Given the description of an element on the screen output the (x, y) to click on. 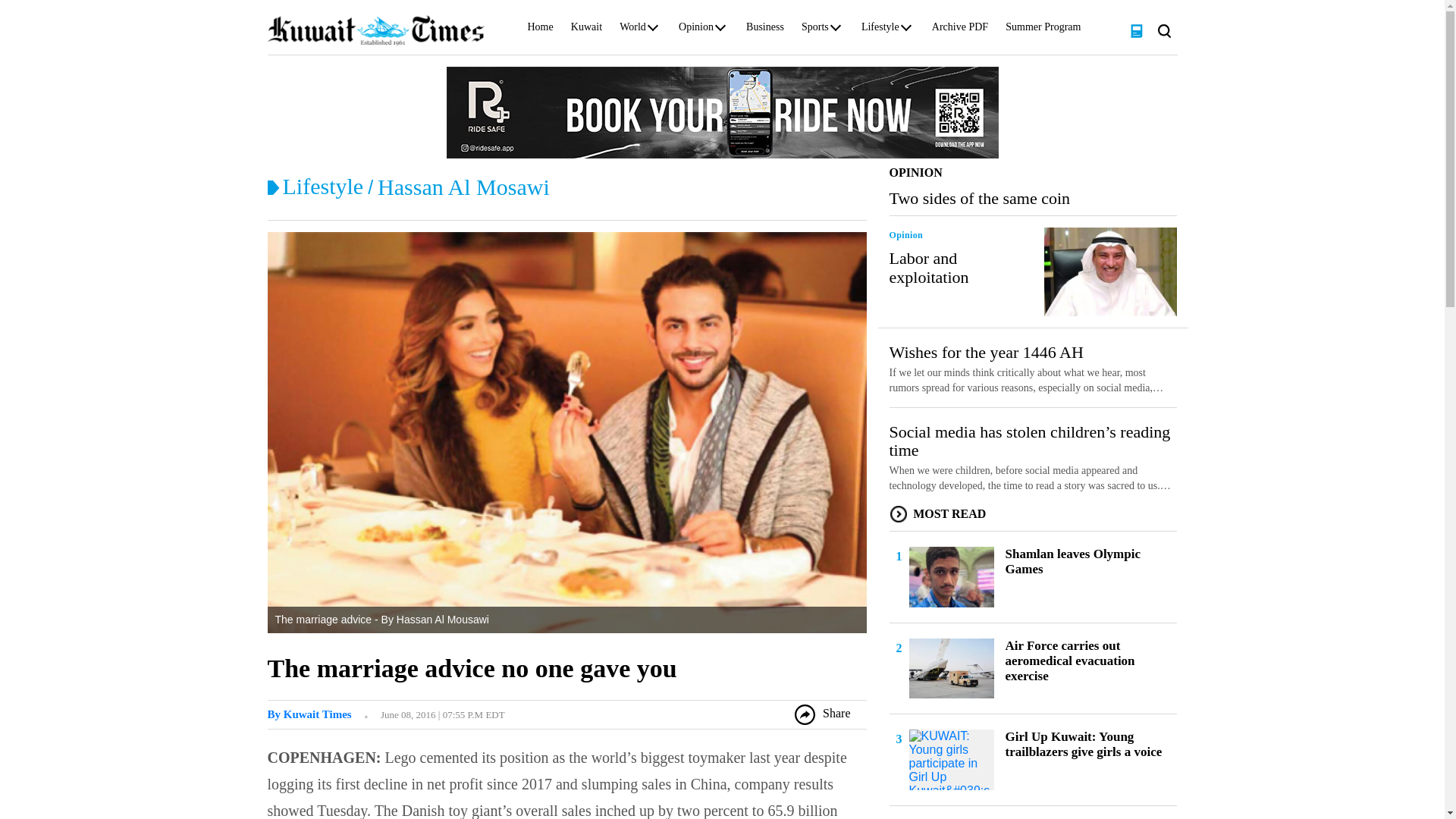
Business (764, 29)
The marriage advice no one gave you (471, 668)
Summer Program (1043, 29)
Lifestyle (880, 29)
Opinion (695, 29)
Banner-Ad (721, 111)
talal (308, 714)
Hassan Al Mosawi (463, 186)
Kuwait (586, 29)
kuwaittimes.com (374, 29)
Summer Program (1043, 29)
Kuwait (586, 29)
Home (540, 29)
Archive PDF (959, 29)
pdf (1136, 29)
